Given the description of an element on the screen output the (x, y) to click on. 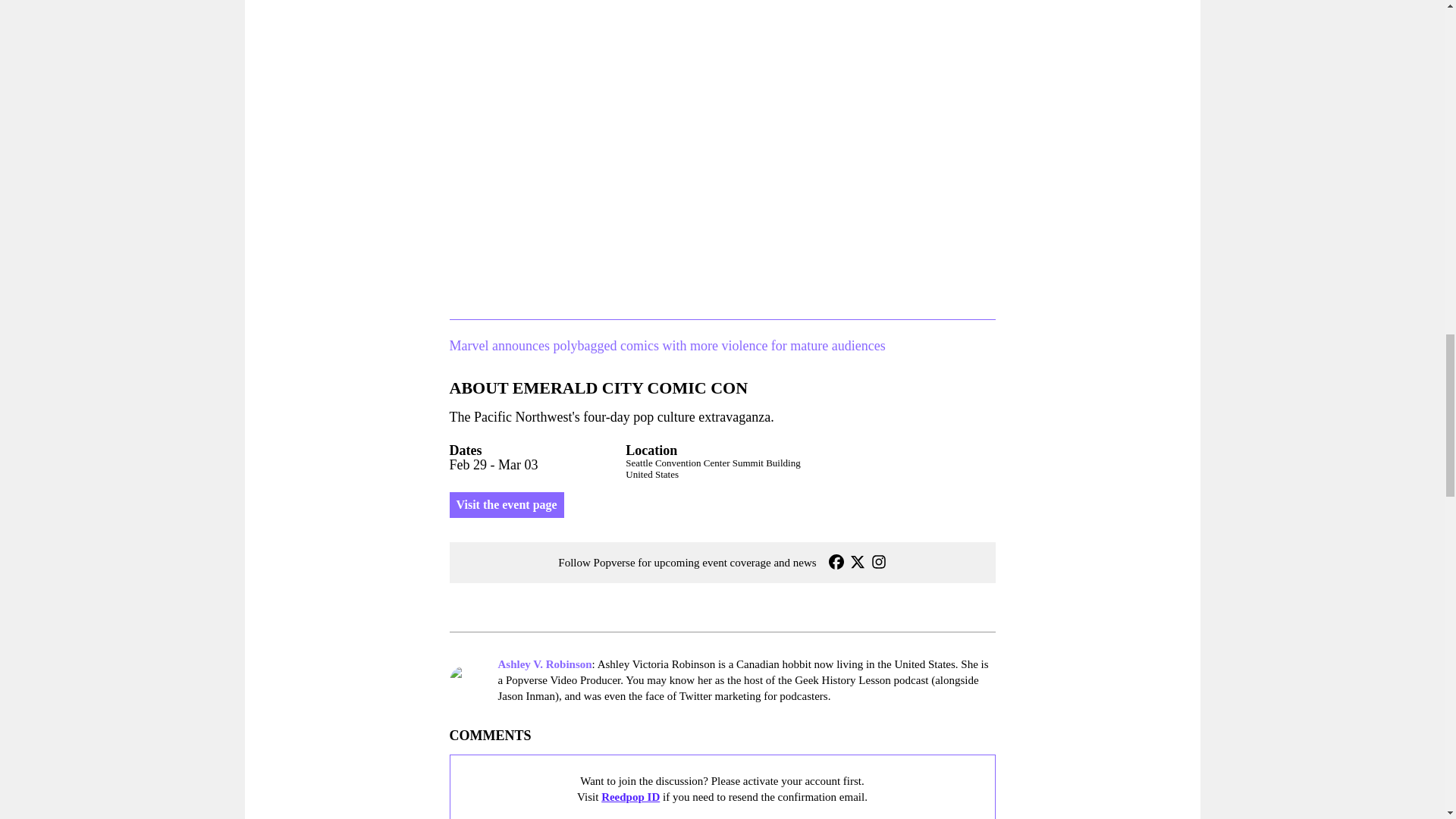
Ashley V. Robinson (544, 664)
Visit the event page (505, 504)
